Given the description of an element on the screen output the (x, y) to click on. 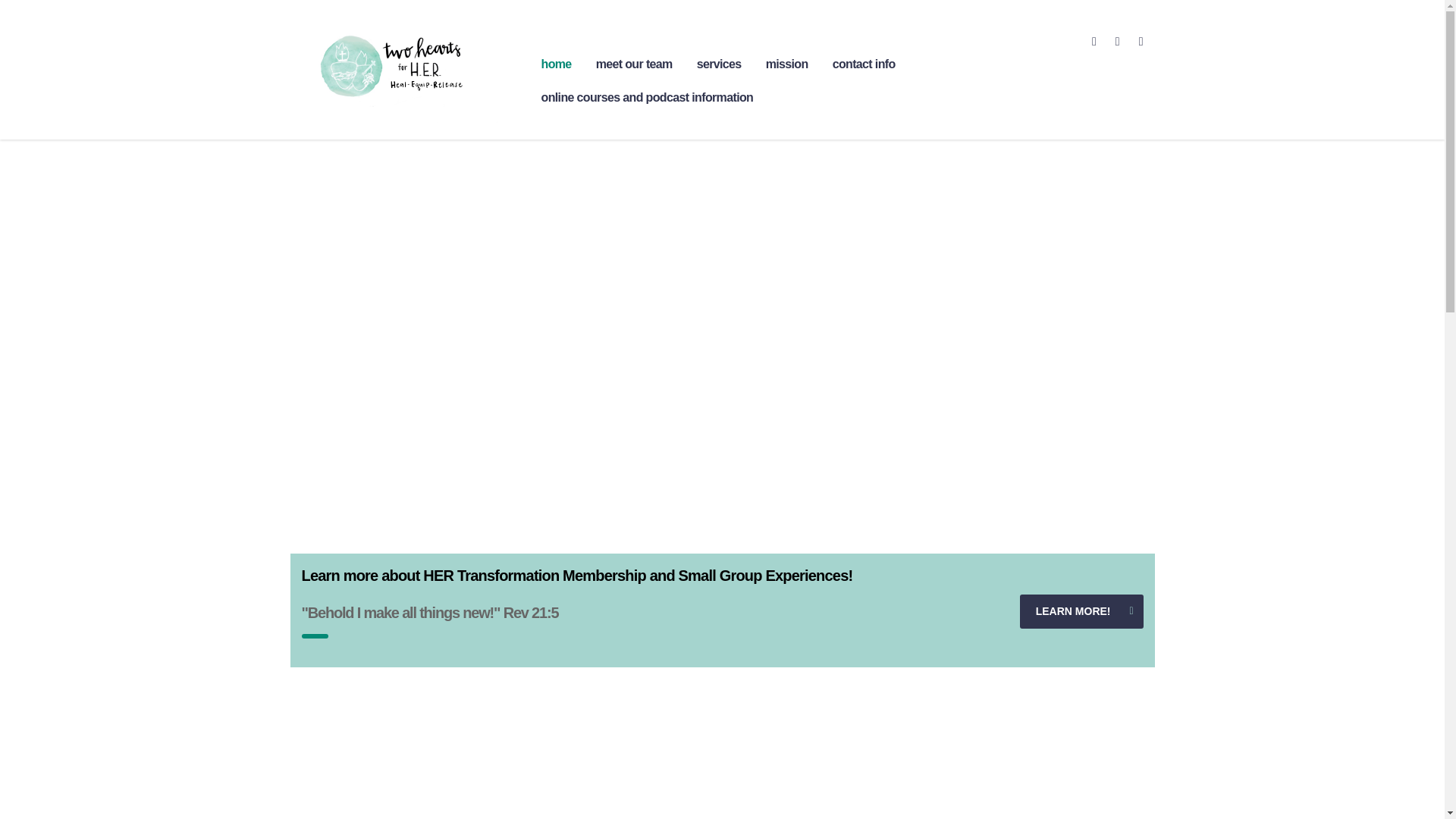
services (719, 64)
online courses and podcast information (647, 97)
LEARN MORE! (1081, 611)
contact info (864, 64)
meet our team (633, 64)
mission (787, 64)
home (556, 64)
